Given the description of an element on the screen output the (x, y) to click on. 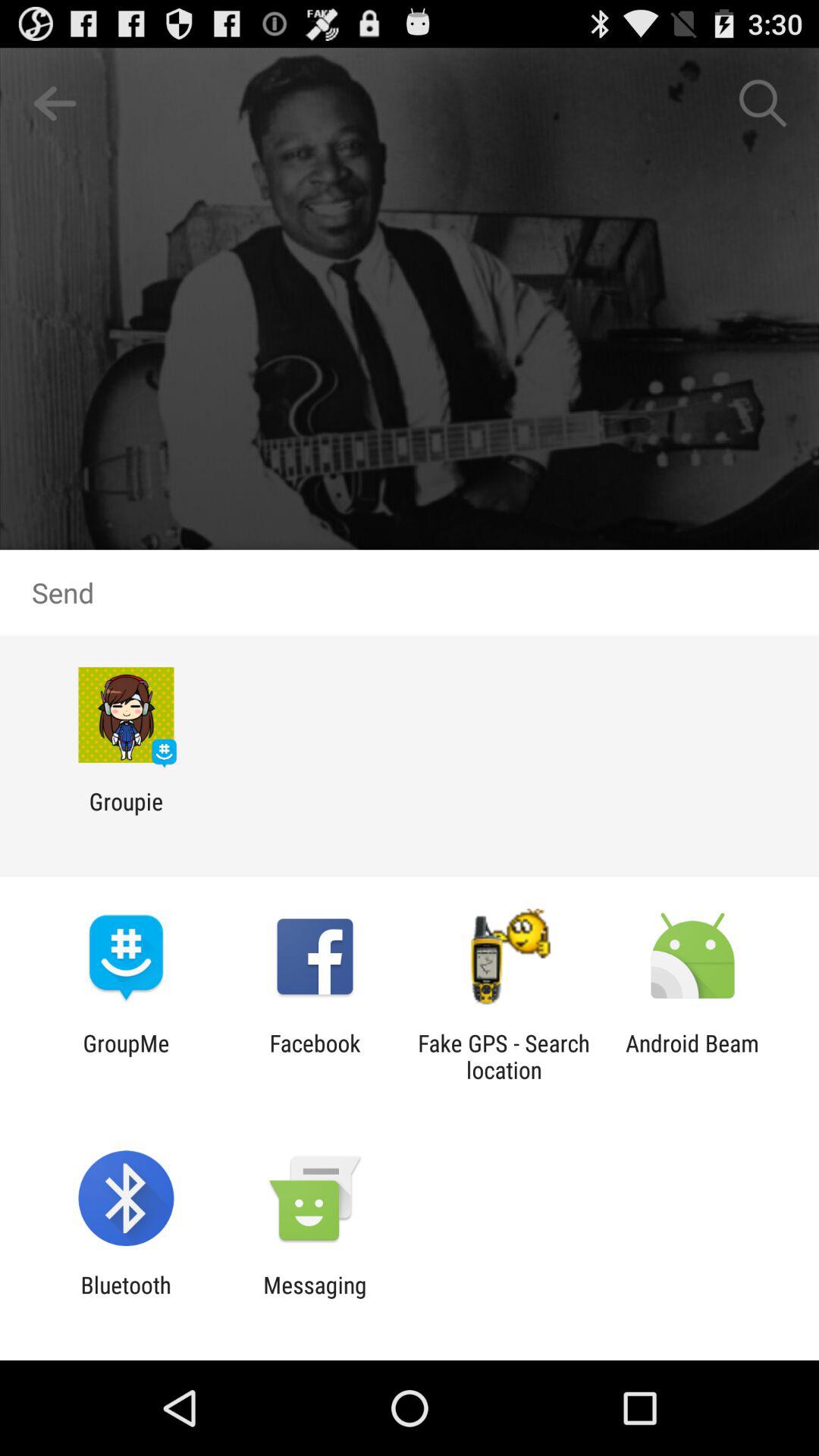
press facebook (314, 1056)
